Given the description of an element on the screen output the (x, y) to click on. 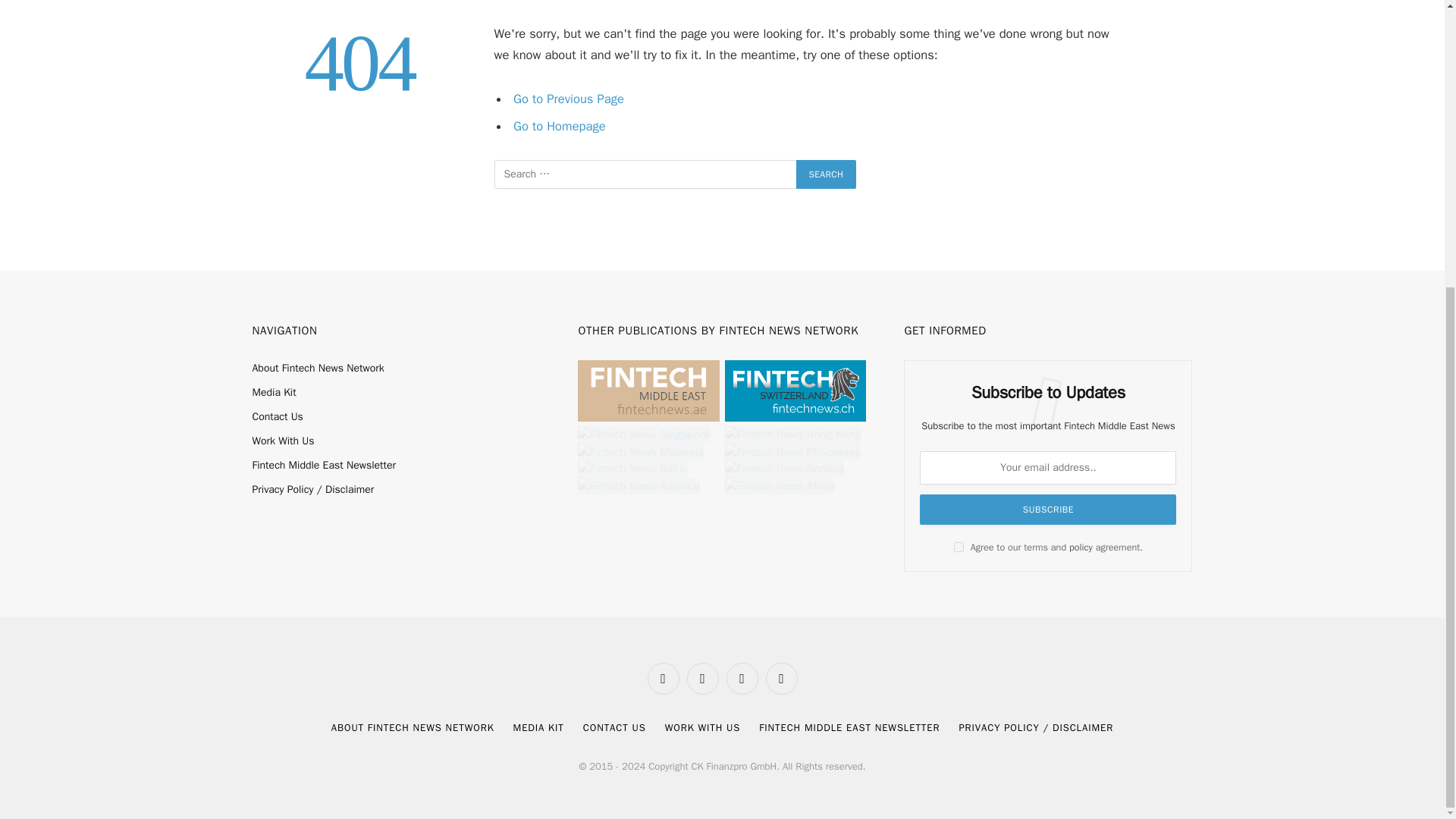
Subscribe (1048, 509)
Search (826, 174)
on (958, 547)
Search (826, 174)
